Given the description of an element on the screen output the (x, y) to click on. 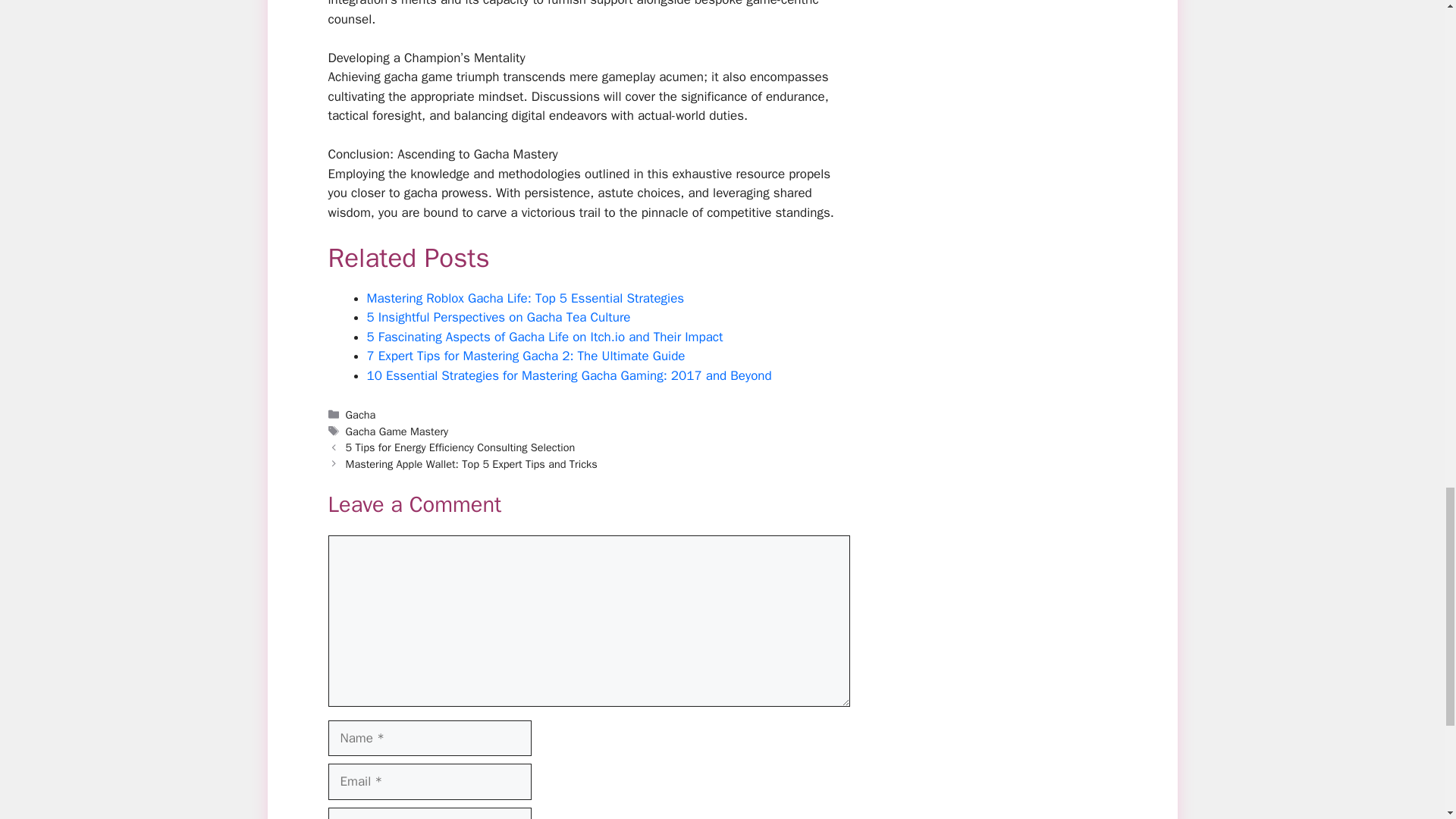
Gacha Game Mastery (397, 431)
5 Insightful Perspectives on Gacha Tea Culture (498, 317)
5 Tips for Energy Efficiency Consulting Selection (460, 447)
Mastering Apple Wallet: Top 5 Expert Tips and Tricks (471, 463)
Mastering Roblox Gacha Life: Top 5 Essential Strategies (525, 298)
7 Expert Tips for Mastering Gacha 2: The Ultimate Guide (525, 355)
Gacha (360, 414)
